Given the description of an element on the screen output the (x, y) to click on. 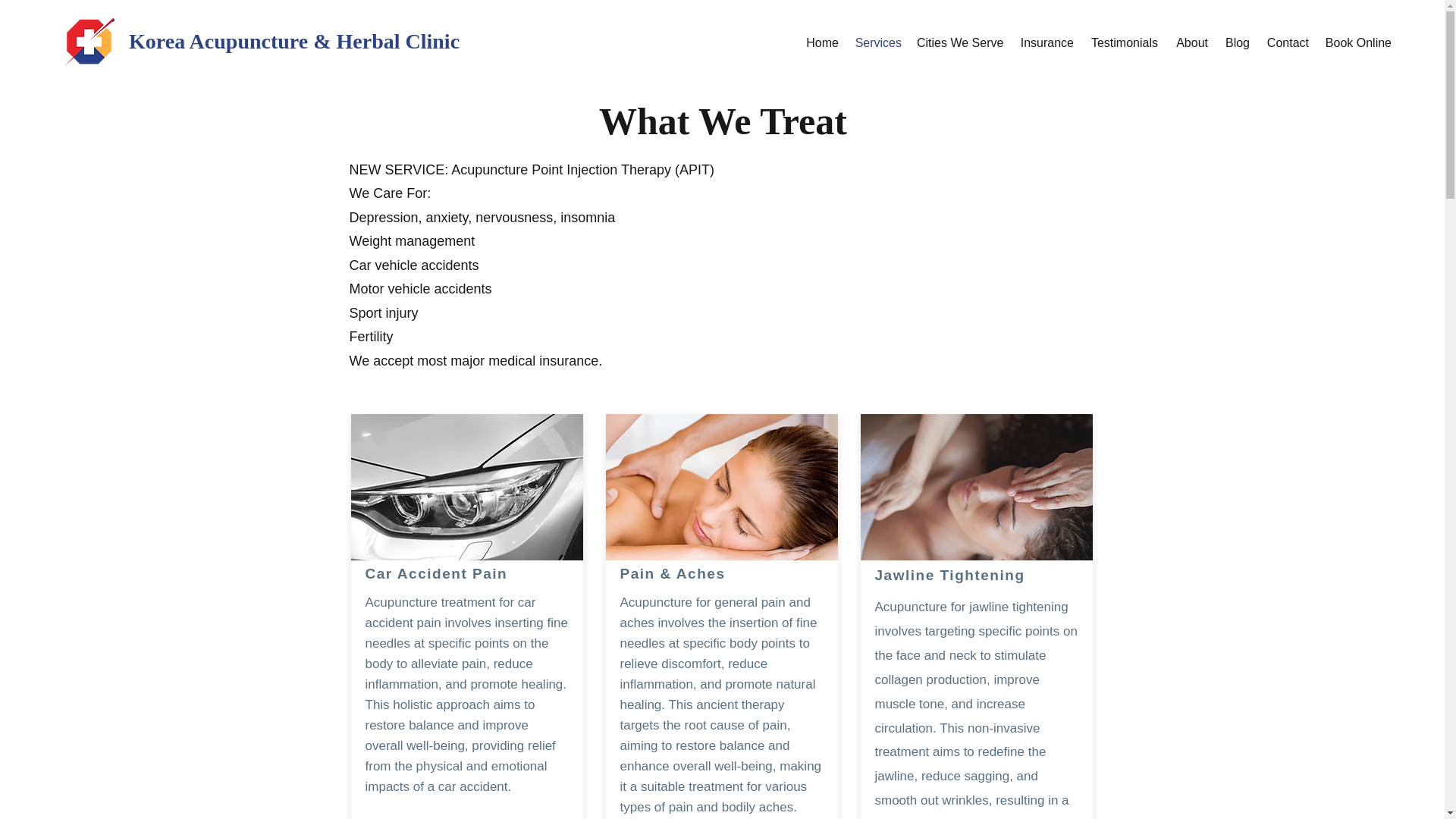
Home (820, 43)
Contact (1286, 43)
Services (876, 43)
About (1190, 43)
Cities We Serve (959, 43)
Book Online (1357, 43)
Insurance (1045, 43)
Testimonials (1123, 43)
Blog (1236, 43)
